Given the description of an element on the screen output the (x, y) to click on. 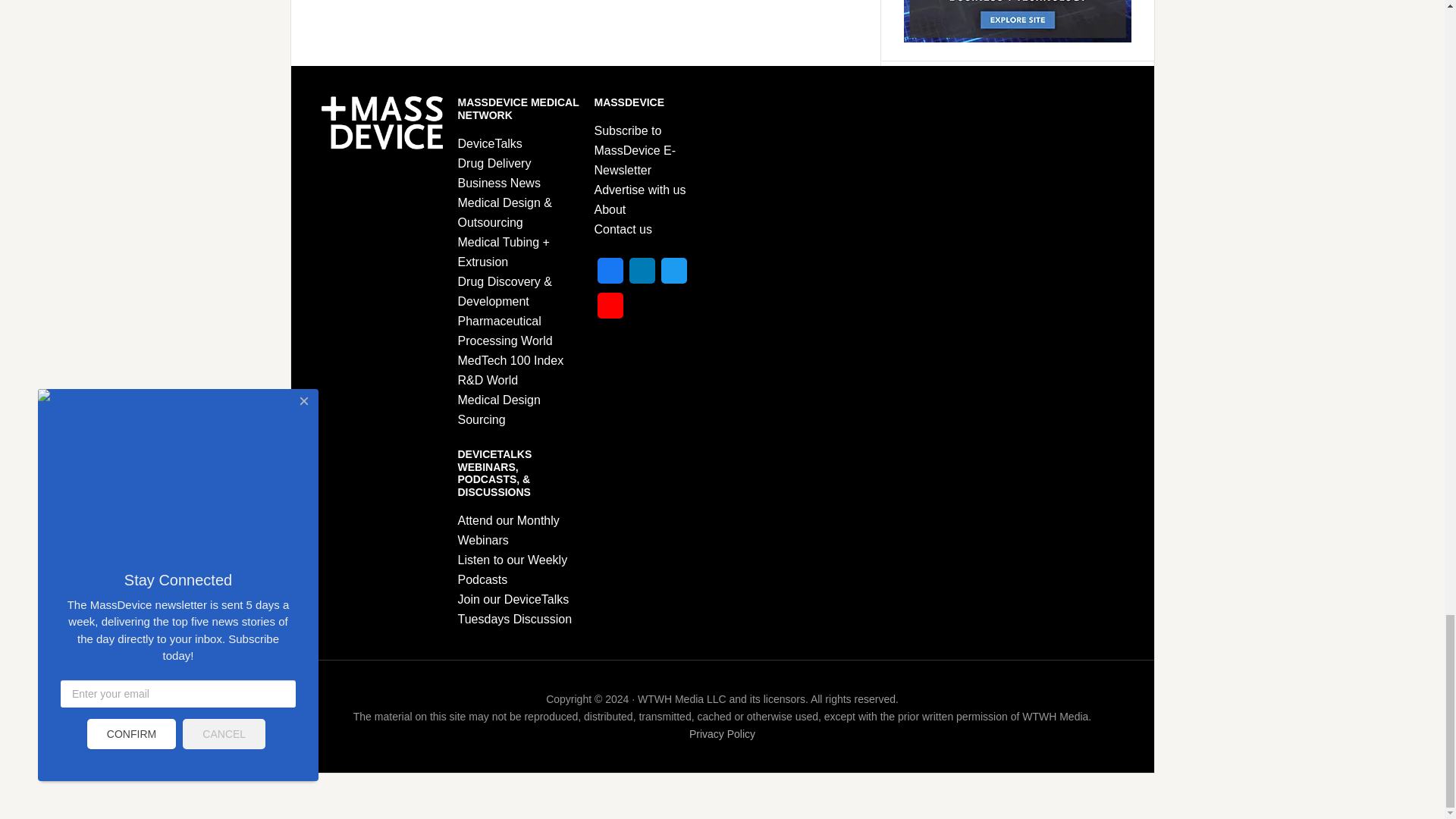
YouTube Channel (610, 309)
LinkedIn Company (642, 274)
Facebook (610, 274)
Twitter (674, 274)
